Given the description of an element on the screen output the (x, y) to click on. 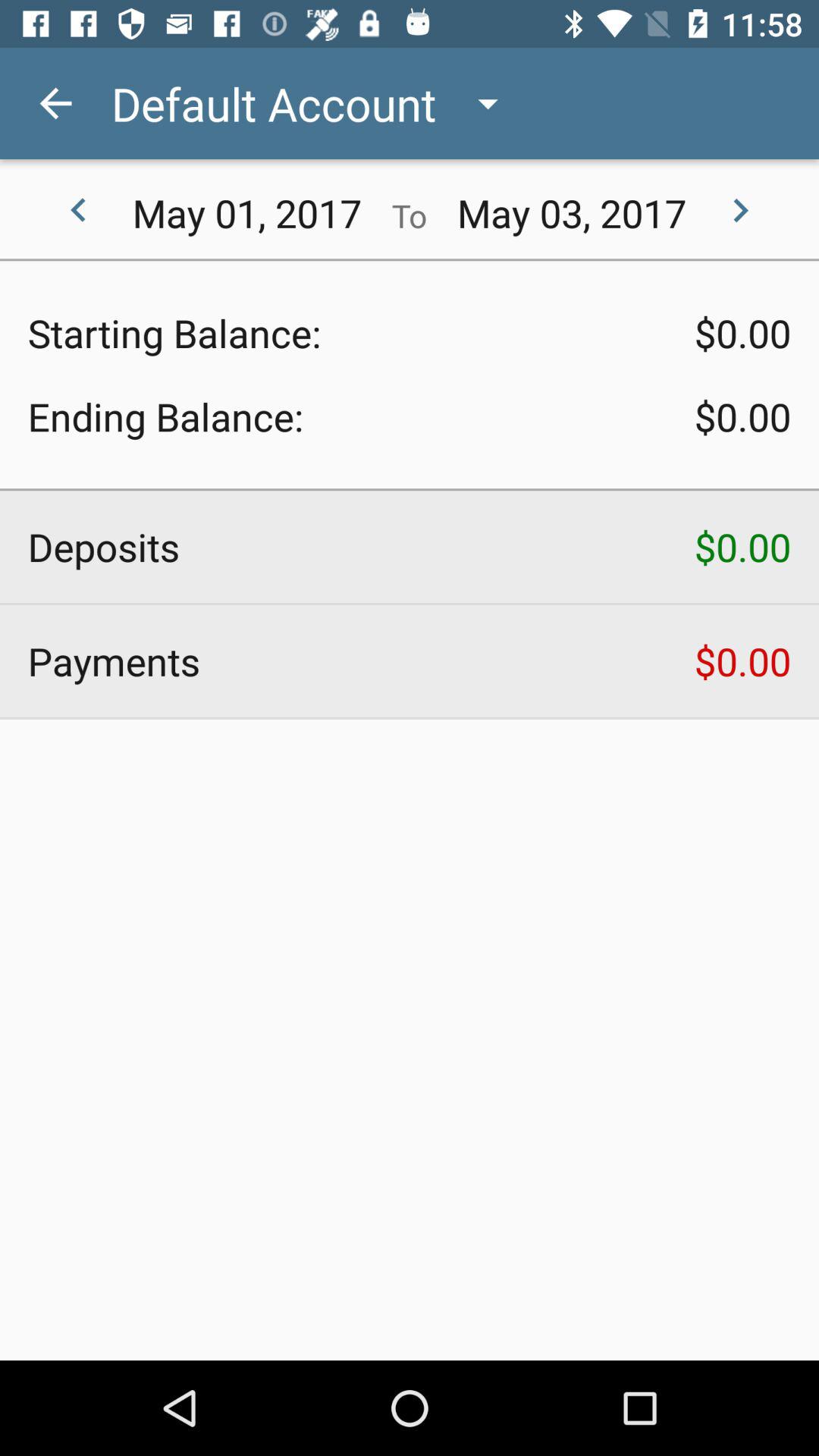
choose the item to the left of may 01, 2017 icon (78, 210)
